Given the description of an element on the screen output the (x, y) to click on. 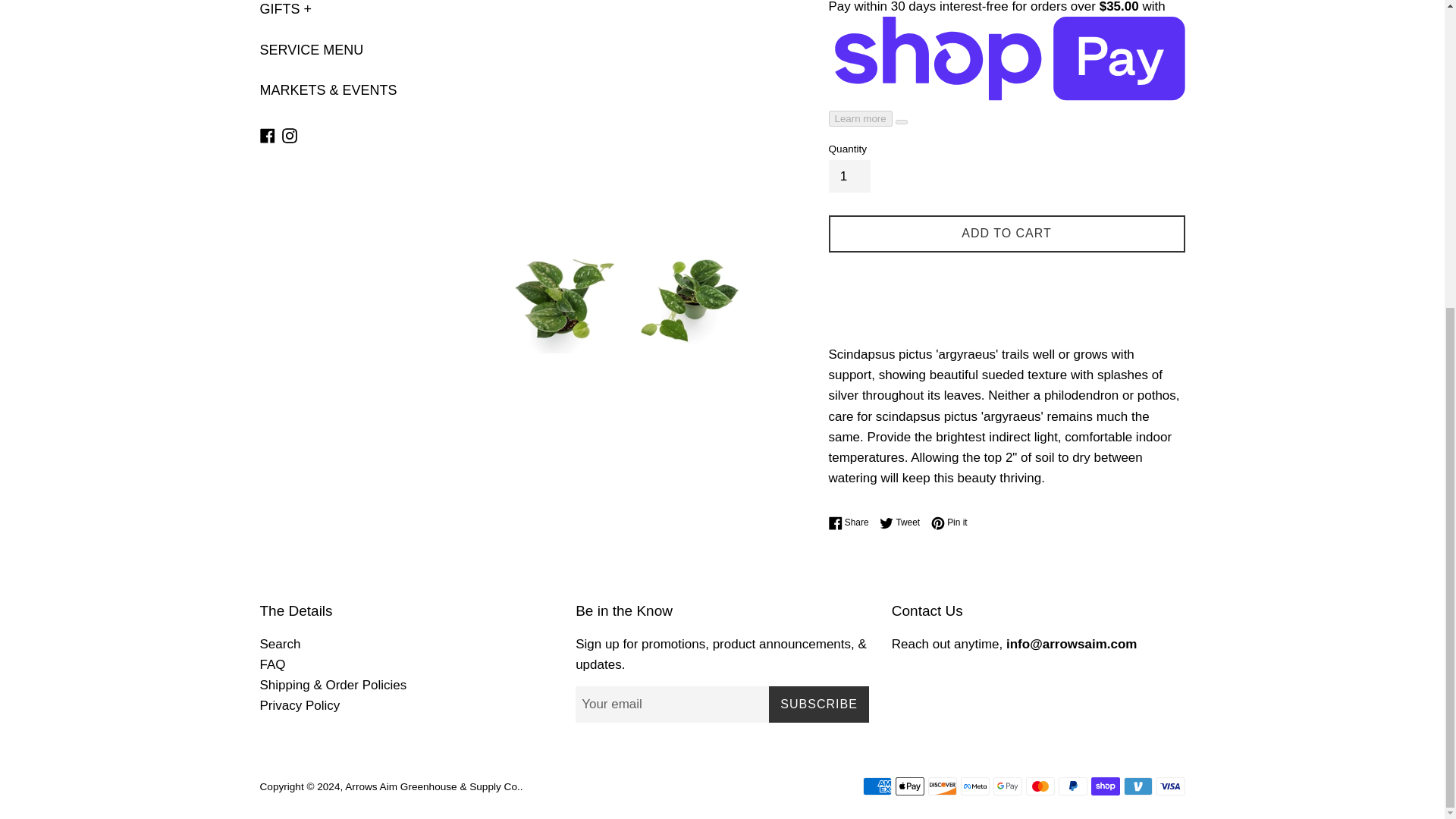
Visa (1170, 786)
American Express (877, 786)
Google Pay (1007, 786)
SERVICE MENU (342, 50)
Meta Pay (973, 786)
PayPal (1072, 786)
Facebook (267, 134)
Mastercard (1039, 786)
Share on Facebook (852, 522)
Apple Pay (909, 786)
